Given the description of an element on the screen output the (x, y) to click on. 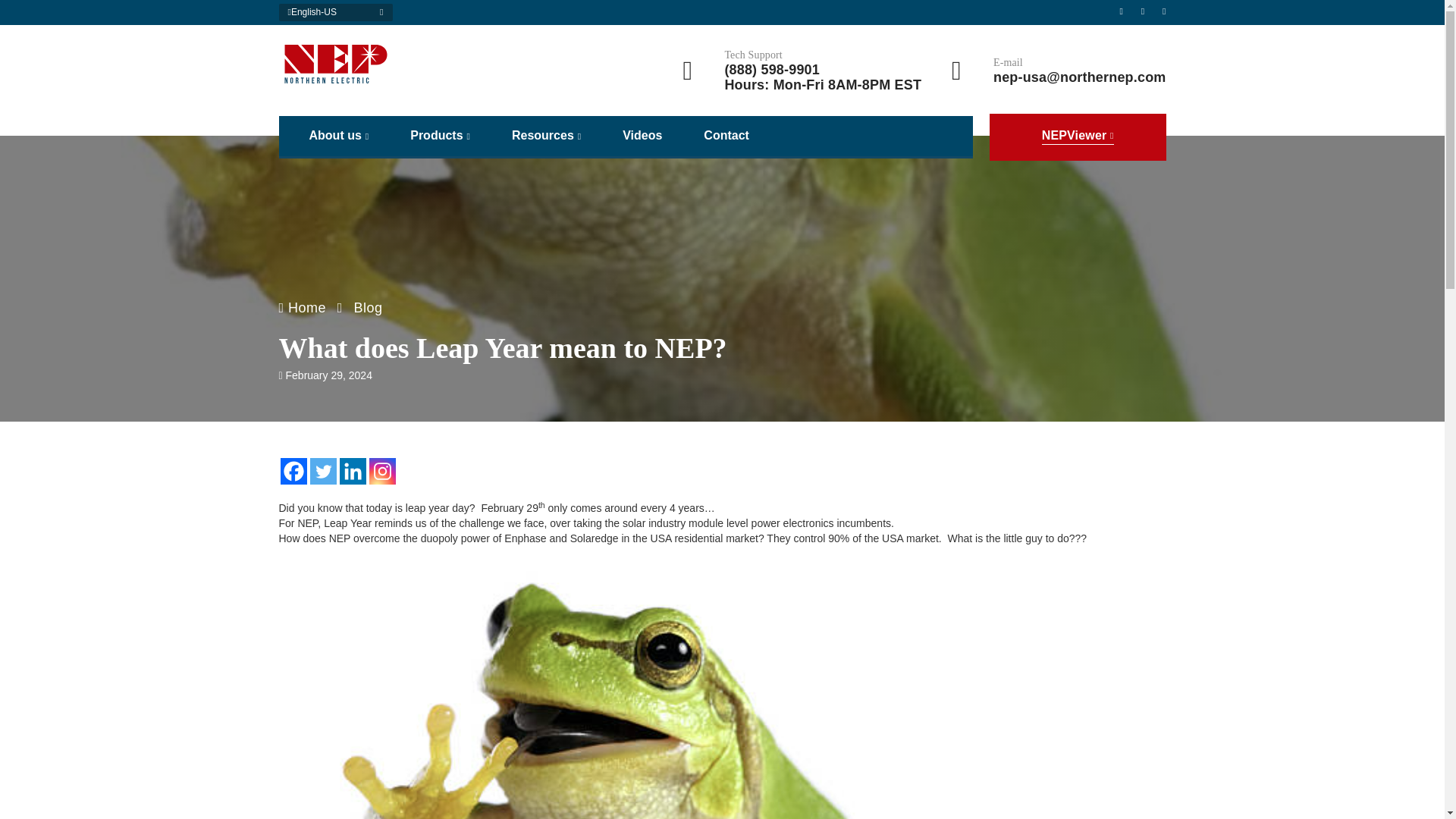
Home (302, 307)
Resources (546, 135)
Resources (546, 135)
Products (440, 135)
Products (440, 135)
Contact (726, 135)
NEPViewer (1078, 136)
LinkedIn (292, 605)
Subscribe (1098, 628)
Videos (642, 135)
About us (338, 135)
About us (338, 135)
Instagram (328, 605)
Blog (367, 307)
